Given the description of an element on the screen output the (x, y) to click on. 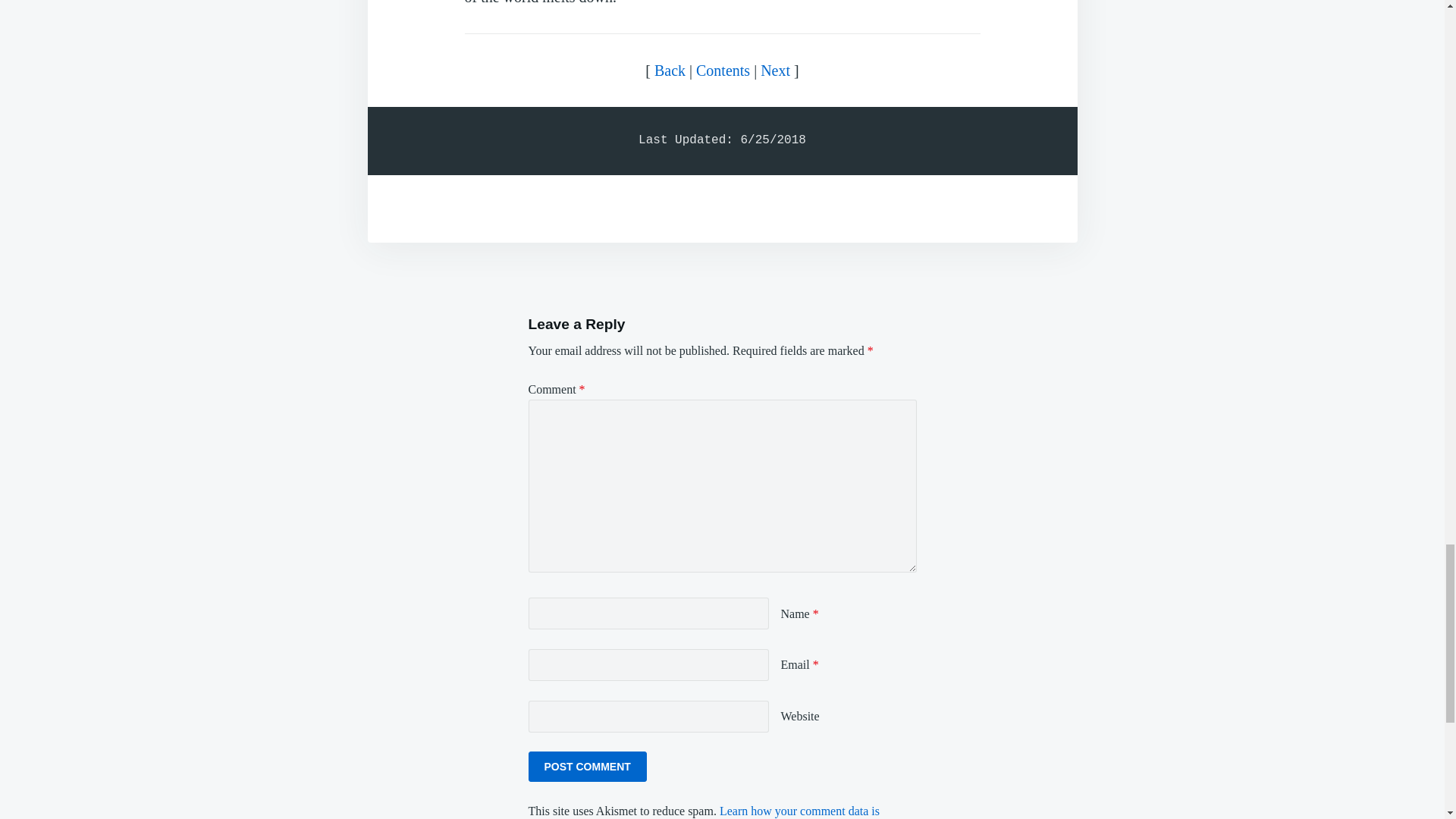
Post Comment (586, 766)
